Given the description of an element on the screen output the (x, y) to click on. 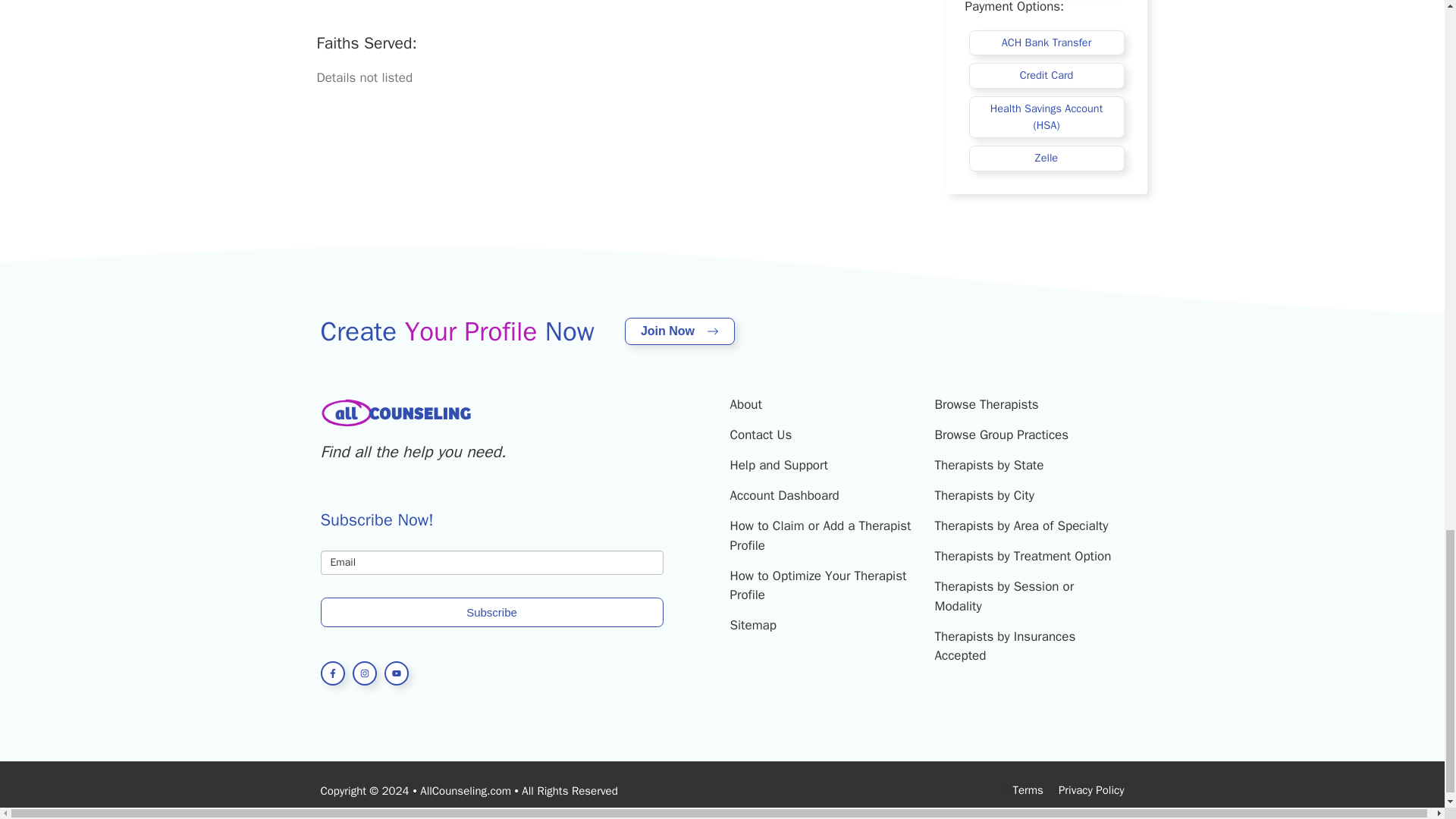
All Counseling (395, 413)
Join Now (679, 330)
